Given the description of an element on the screen output the (x, y) to click on. 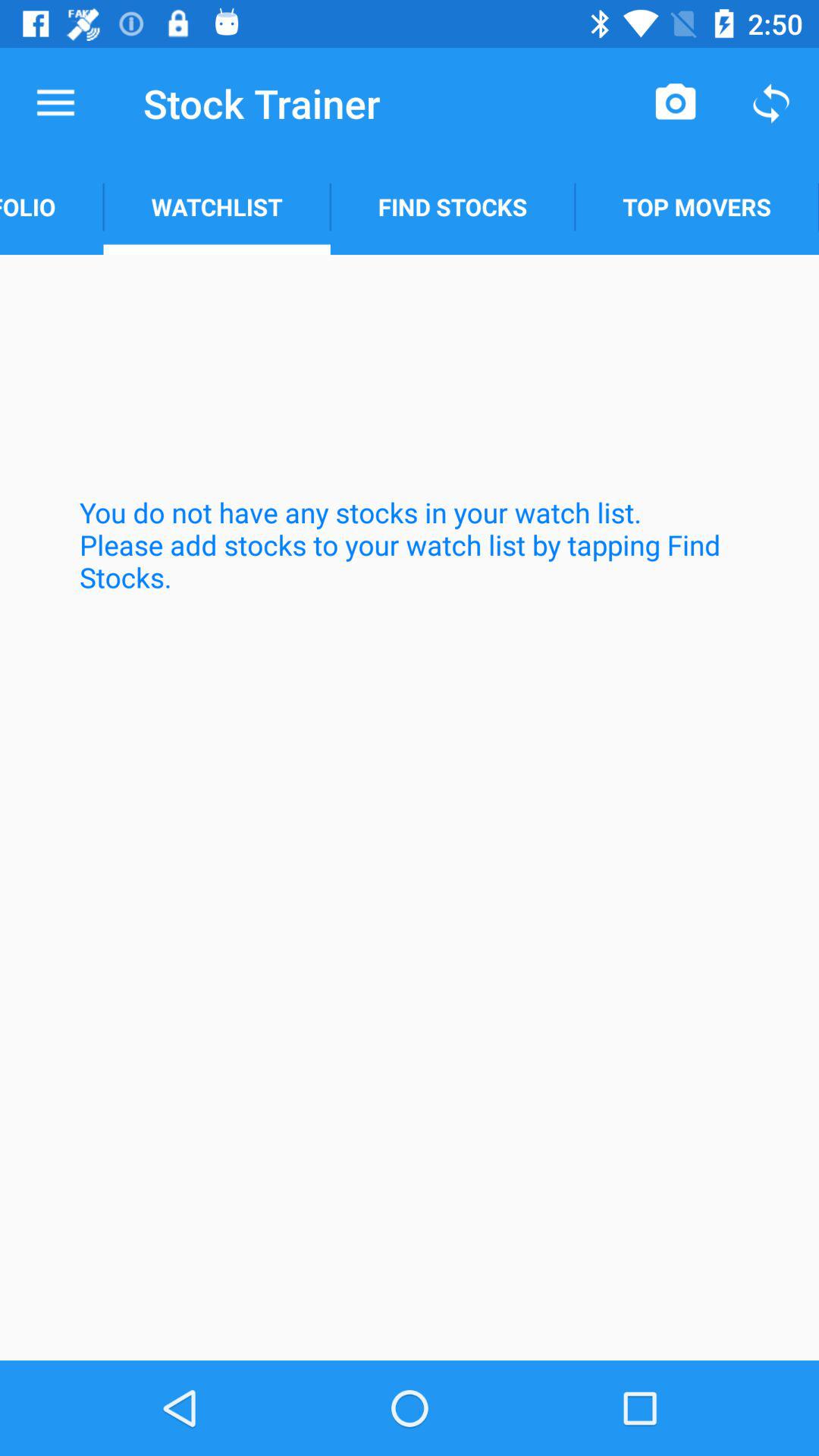
swipe to the top movers app (697, 206)
